Given the description of an element on the screen output the (x, y) to click on. 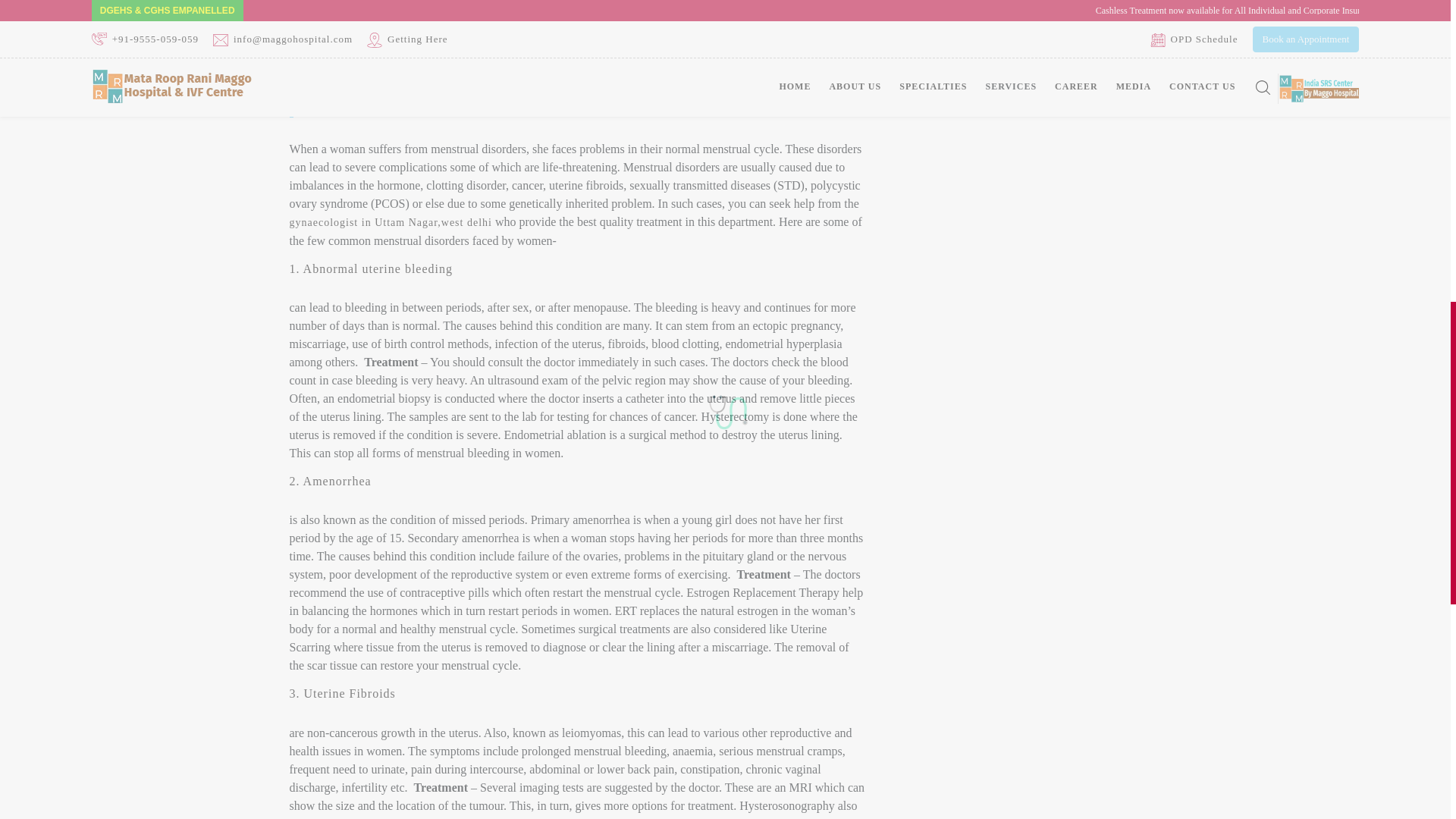
Best IVF Doctor in Uttam Nagar, Delhi (1037, 153)
Urologist in West Delhi (998, 178)
Urologist in Uttam Nagar (1002, 253)
gynaecologist in Uttam Nagar,west delhi (390, 222)
Maggo Hospital (577, 22)
West Delhi (966, 103)
Eye Hospital in West Delhi (1007, 279)
Gallbladder Surgeon in West Delhi (1026, 203)
Best IVF Hospital in Uttam Nagar (1024, 229)
Gynecologist in Uttam Nagar West Delhi (1040, 53)
